Given the description of an element on the screen output the (x, y) to click on. 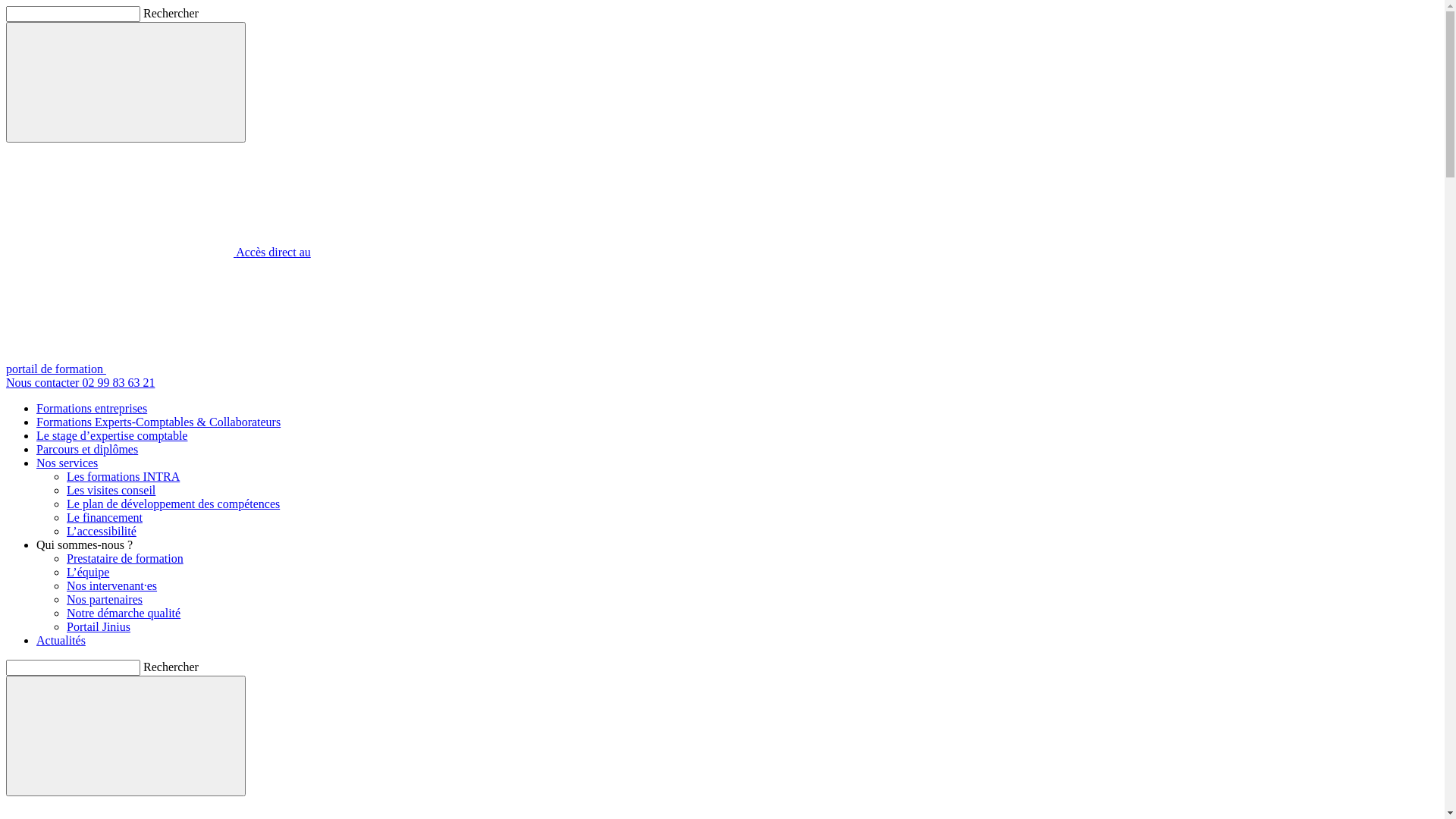
Nos partenaires Element type: text (104, 599)
Nous contacter 02 99 83 63 21 Element type: text (722, 375)
Nos services Element type: text (66, 462)
Formations entreprises Element type: text (91, 407)
Formations Experts-Comptables & Collaborateurs Element type: text (158, 421)
Portail Jinius Element type: text (98, 626)
Les visites conseil Element type: text (110, 489)
Prestataire de formation Element type: text (124, 558)
Les formations INTRA Element type: text (122, 476)
Le financement Element type: text (104, 517)
Qui sommes-nous ? Element type: text (84, 544)
